Given the description of an element on the screen output the (x, y) to click on. 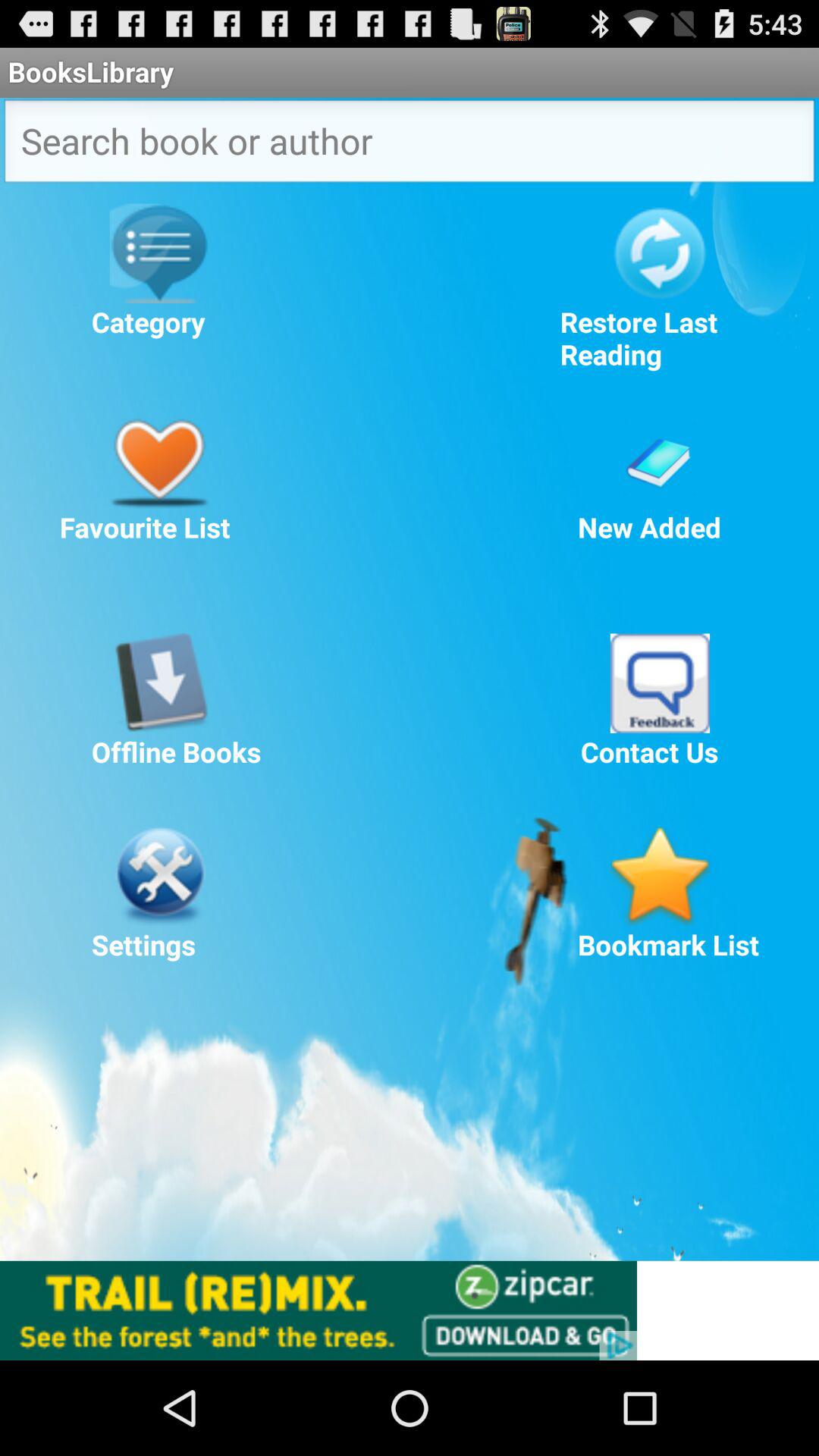
search book or author (409, 145)
